Given the description of an element on the screen output the (x, y) to click on. 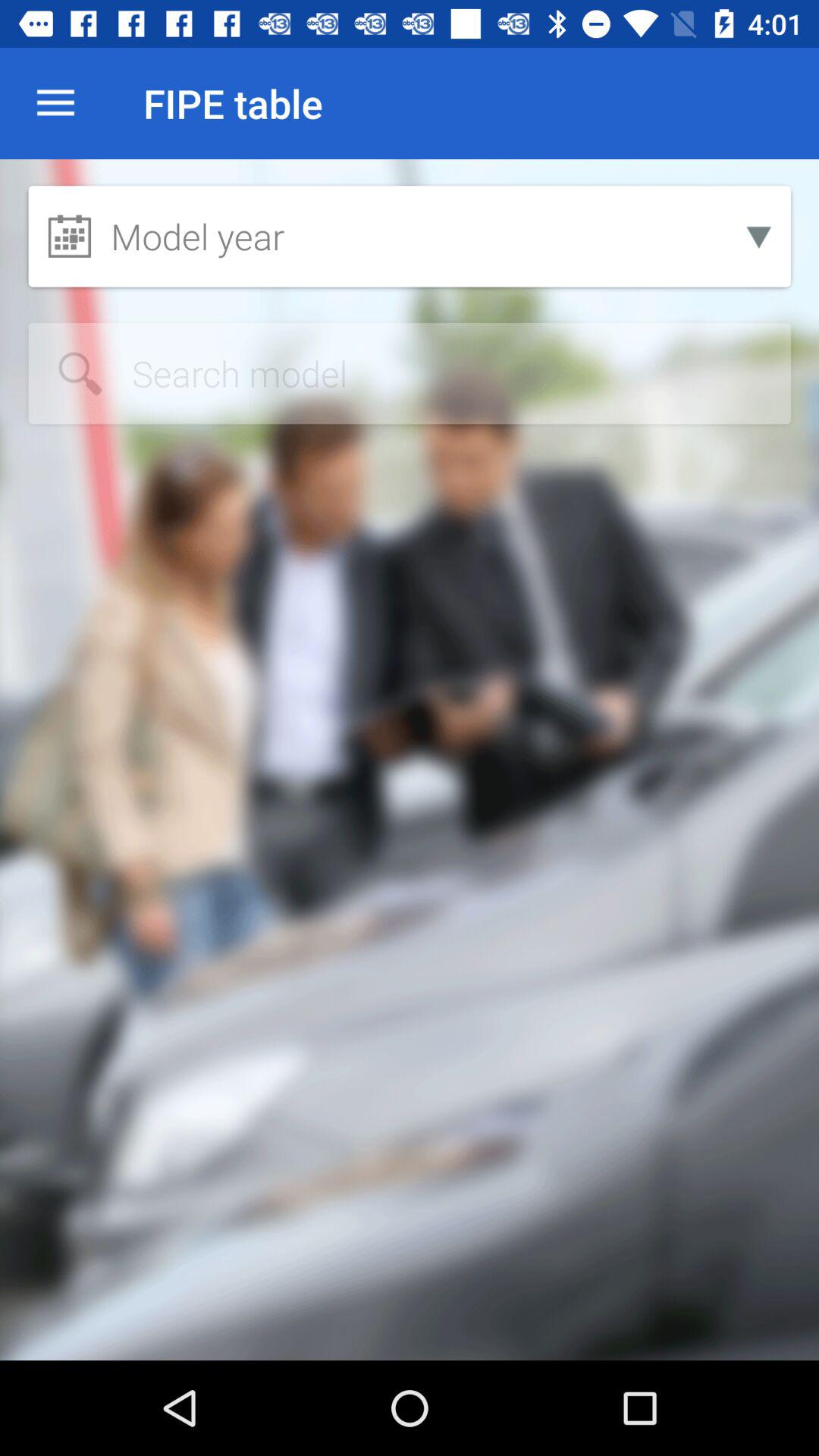
select icon to the left of fipe table icon (55, 103)
